Given the description of an element on the screen output the (x, y) to click on. 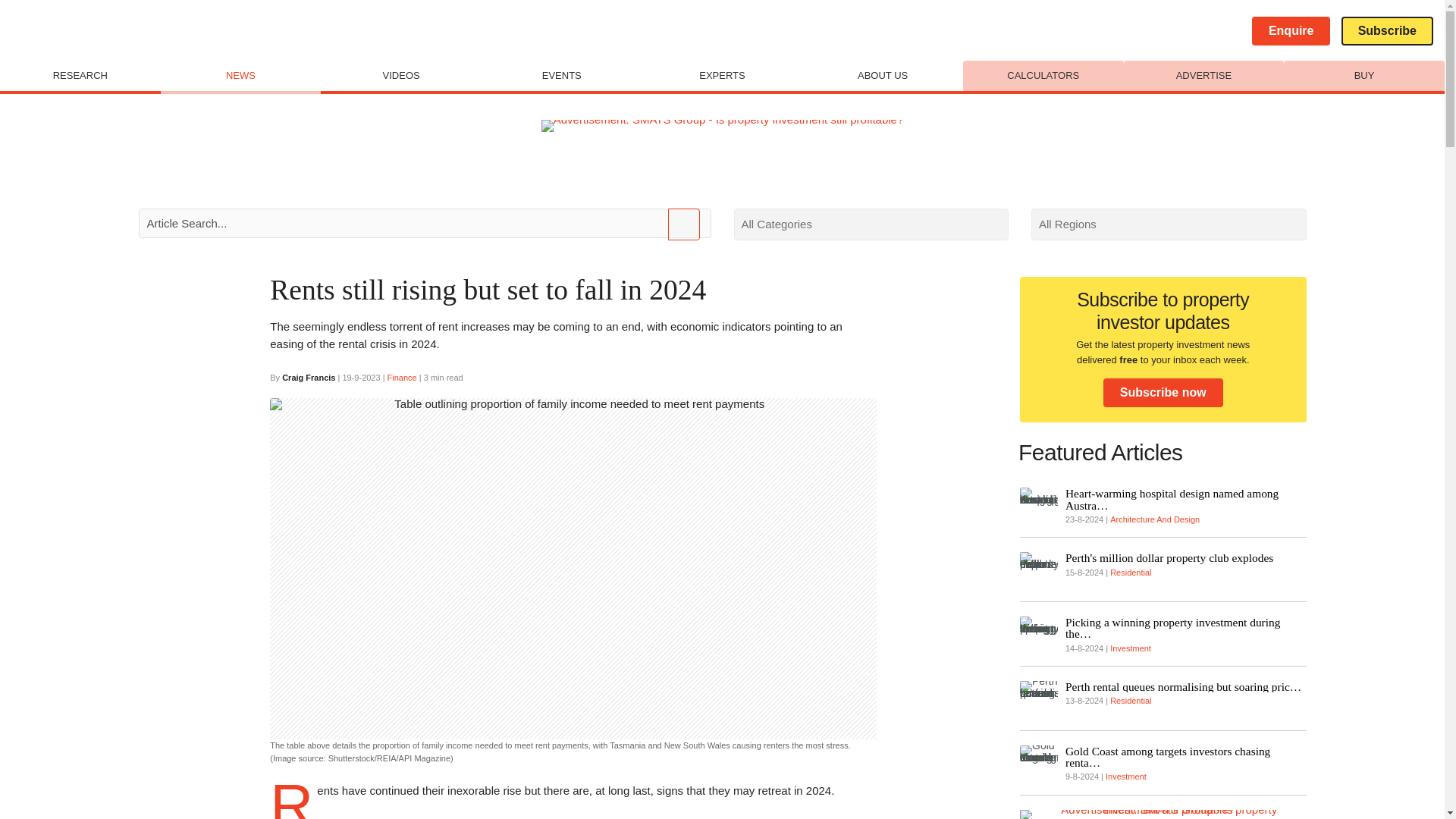
EVENTS (561, 76)
RESEARCH (80, 76)
Finance (401, 377)
Subscribe (1386, 30)
Australian Property Investor Magazine (66, 30)
Residential (1130, 700)
NEWS (240, 77)
ADVERTISE (1204, 76)
Subscribe to our weekly news (1386, 30)
